Given the description of an element on the screen output the (x, y) to click on. 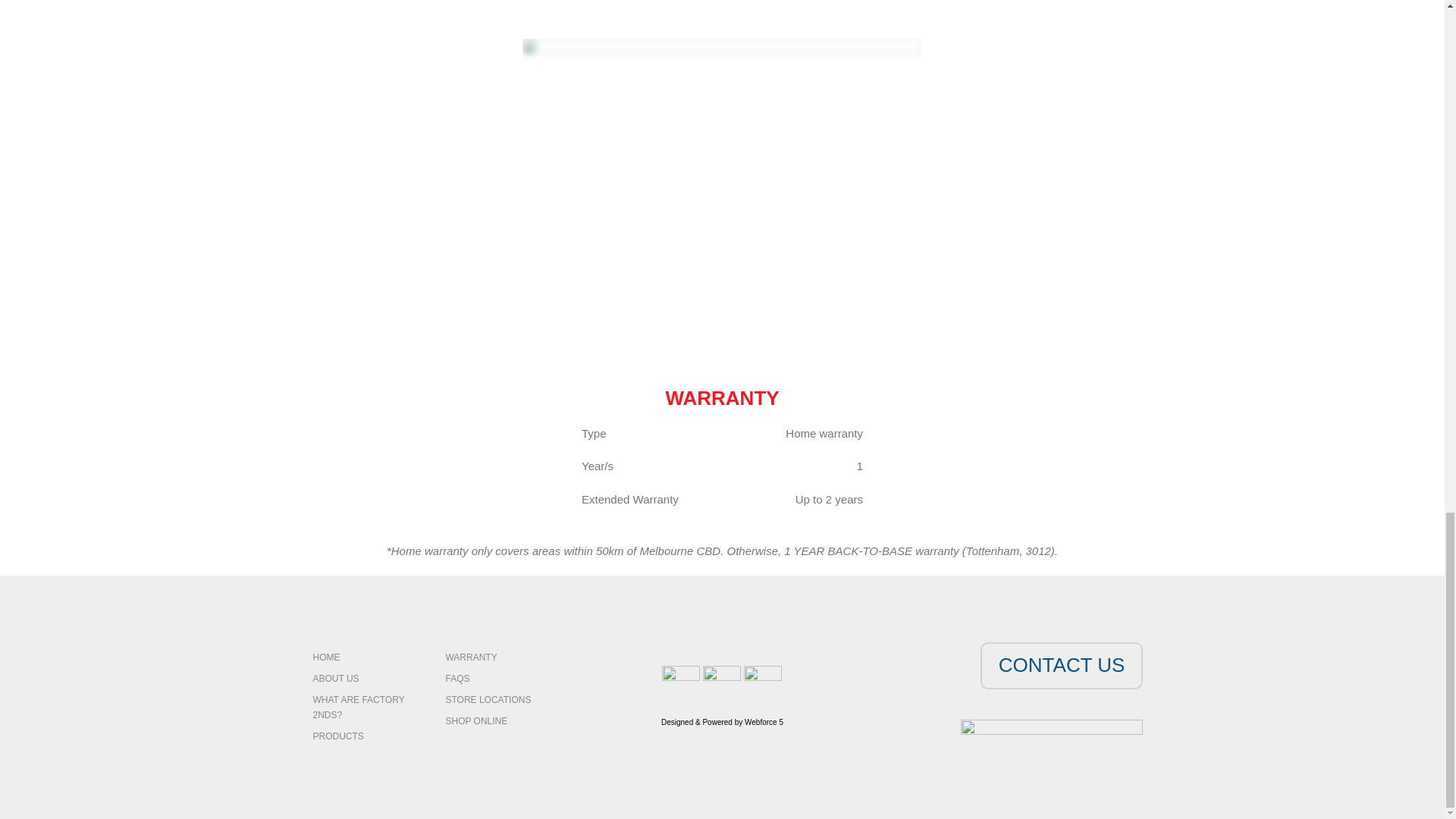
ABOUT US (367, 678)
PRODUCTS (367, 735)
HOME (367, 657)
WHAT ARE FACTORY 2NDS? (367, 707)
